Given the description of an element on the screen output the (x, y) to click on. 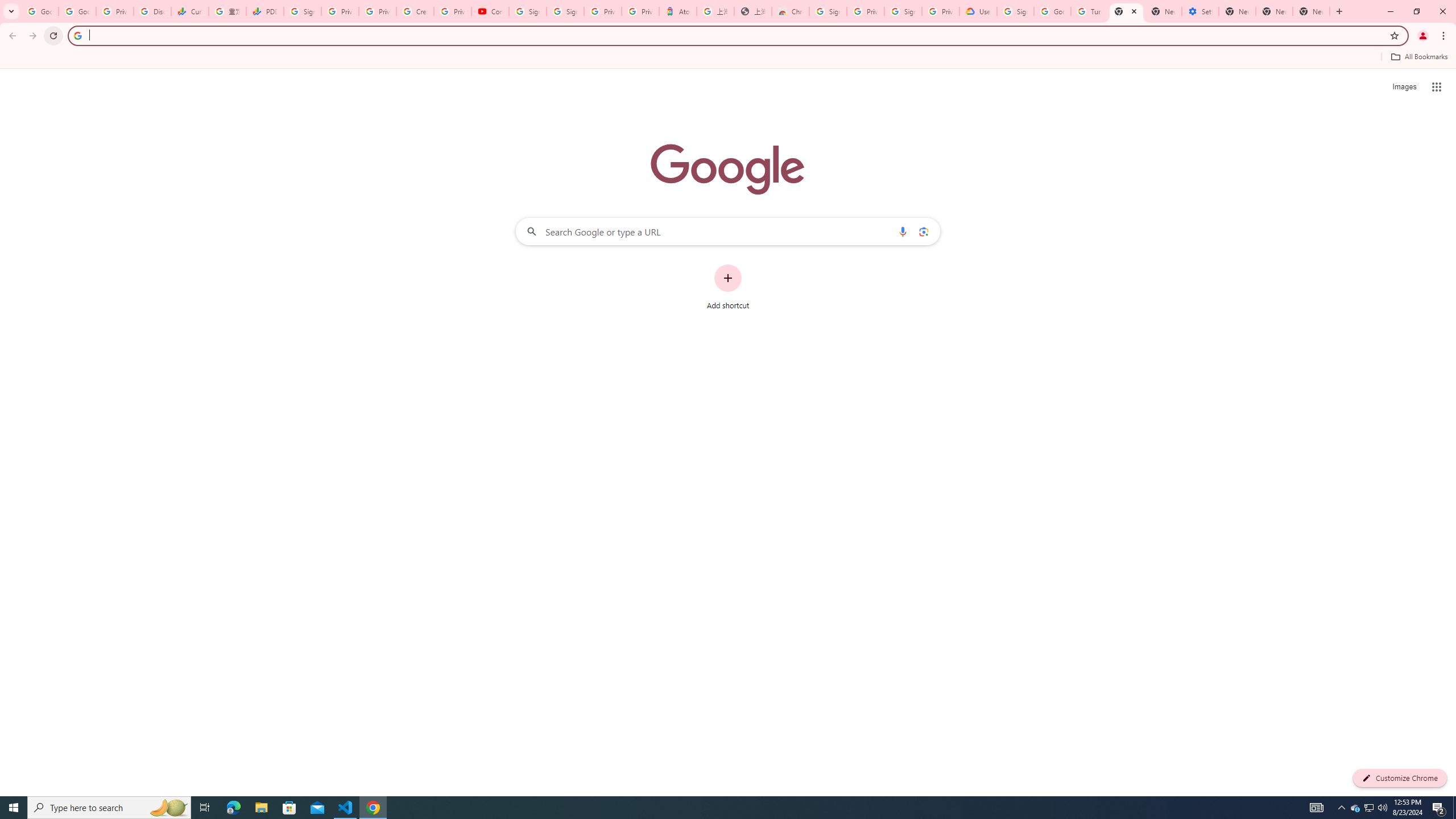
Google Account Help (1052, 11)
Settings - System (1200, 11)
Privacy Checkup (377, 11)
PDD Holdings Inc - ADR (PDD) Price & News - Google Finance (264, 11)
